Given the description of an element on the screen output the (x, y) to click on. 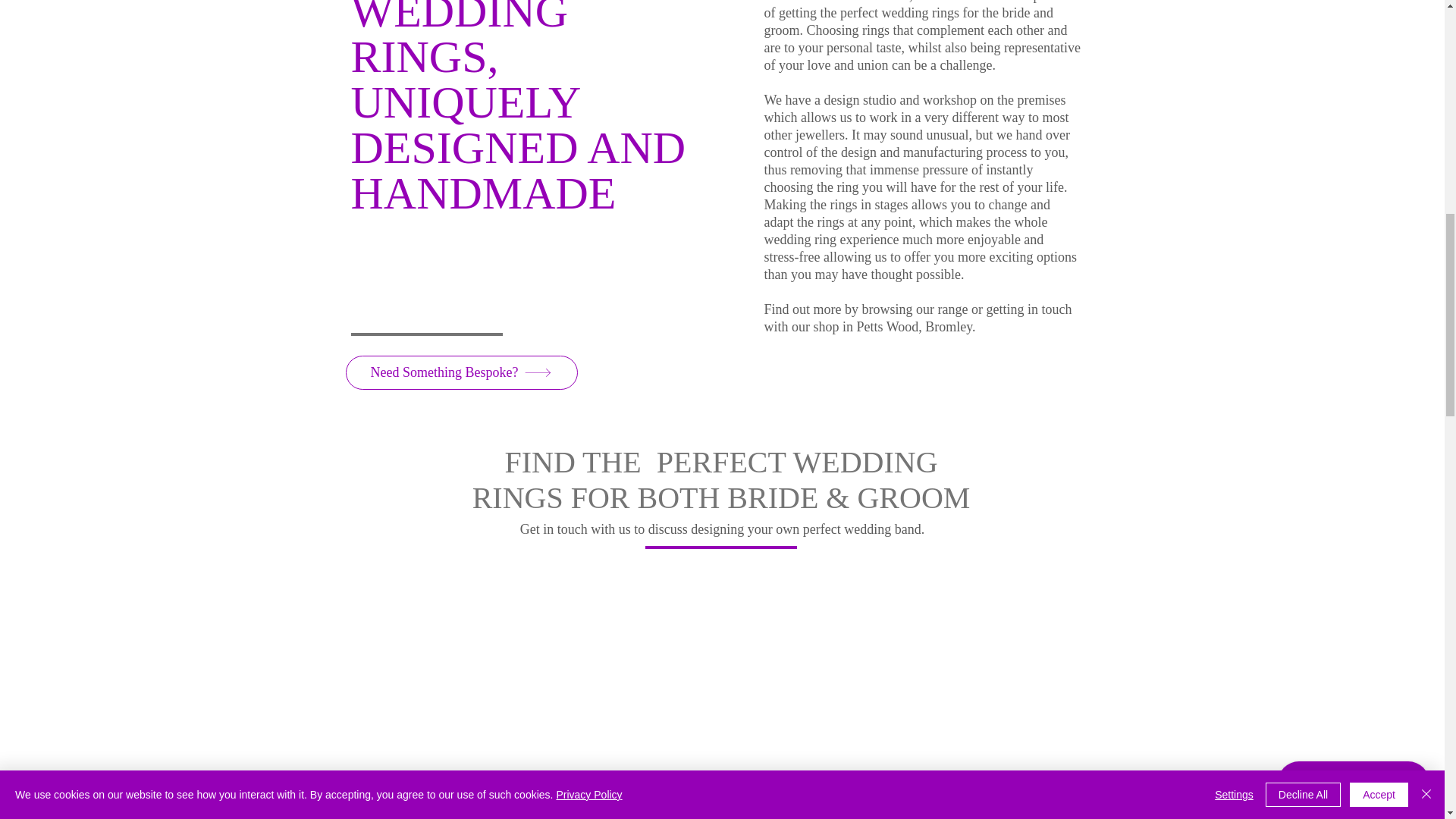
Need Something Bespoke? (462, 372)
